Given the description of an element on the screen output the (x, y) to click on. 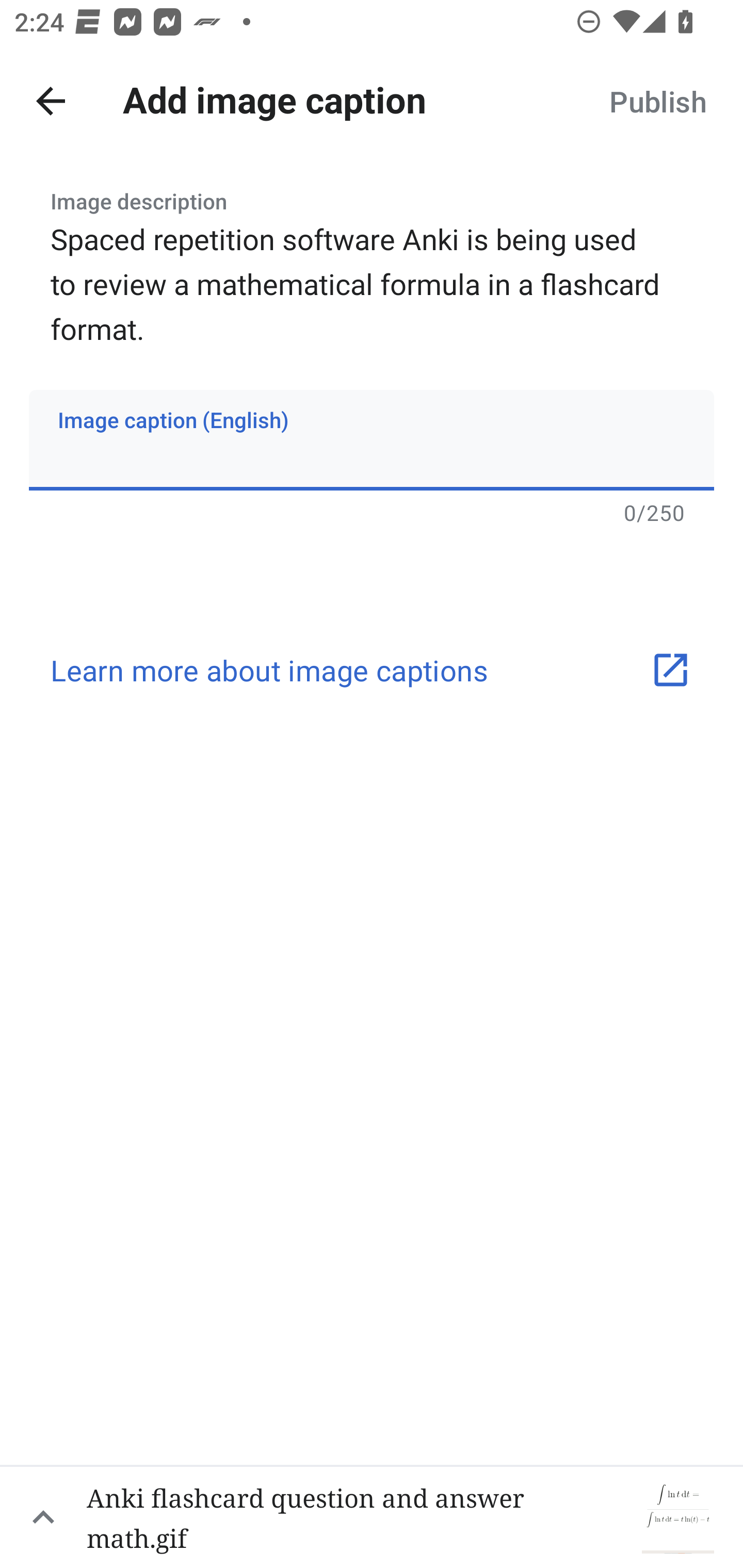
Cancel (50, 101)
Publish (657, 101)
Image caption (English) (371, 440)
Learn more about image captions (371, 670)
Anki flashcard question and answer math.gif (371, 1516)
